Given the description of an element on the screen output the (x, y) to click on. 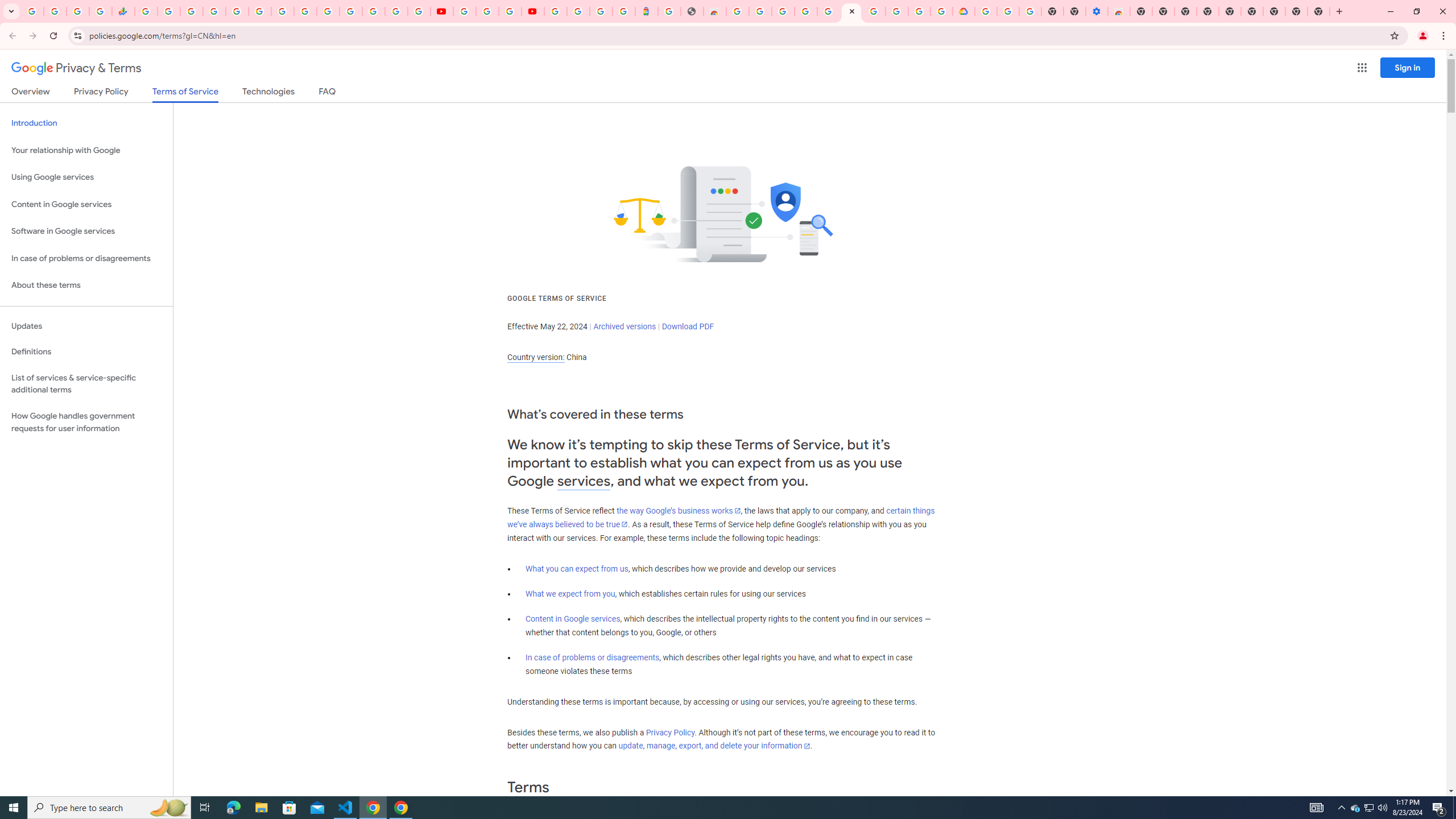
Software in Google services (86, 230)
Google Account Help (486, 11)
Sign in - Google Accounts (578, 11)
New Tab (1141, 11)
Sign in - Google Accounts (555, 11)
Sign in - Google Accounts (328, 11)
About these terms (86, 284)
Sign in - Google Accounts (985, 11)
